Given the description of an element on the screen output the (x, y) to click on. 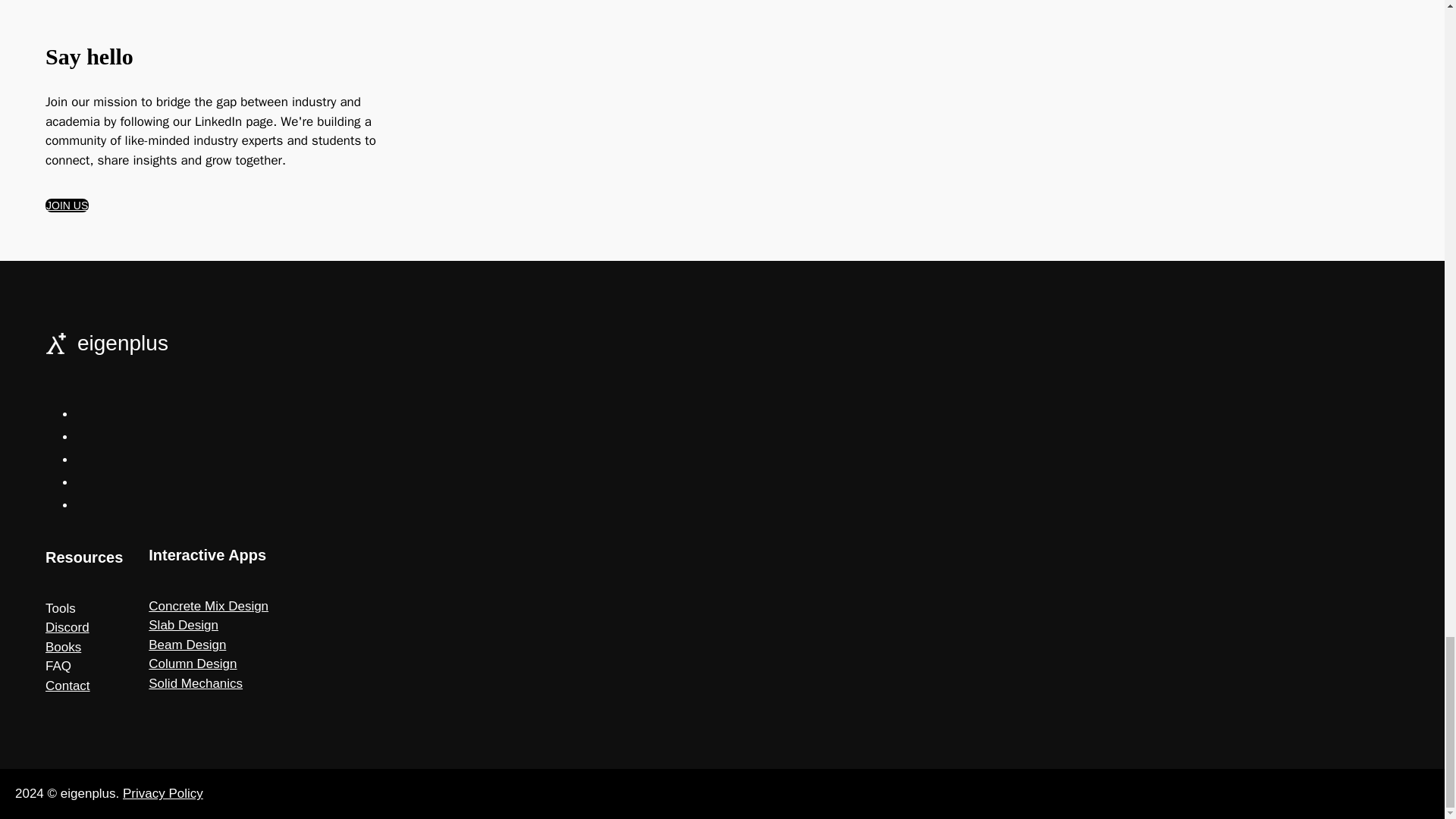
JOIN US (66, 205)
Discord (66, 626)
Contact (67, 685)
Books (63, 646)
Concrete Mix Design (207, 605)
